Given the description of an element on the screen output the (x, y) to click on. 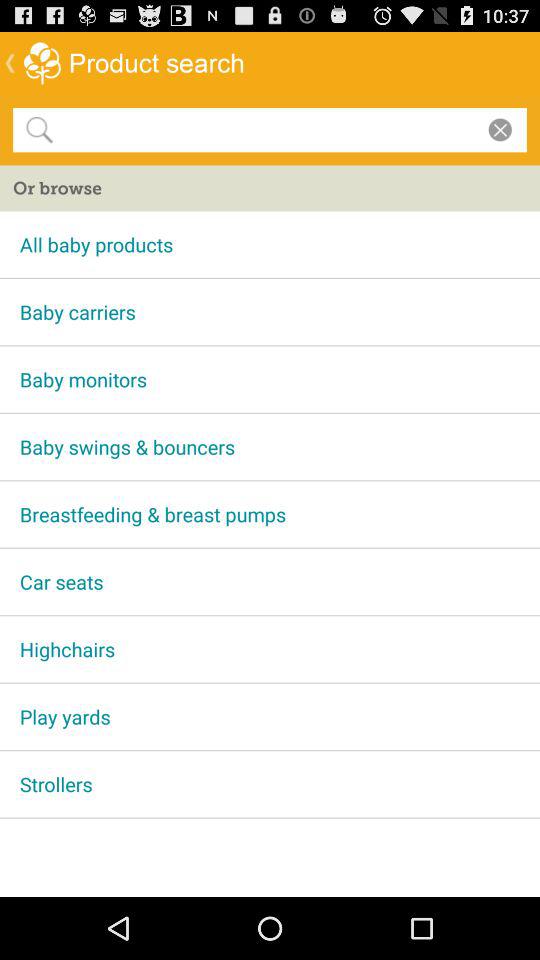
search bar (266, 129)
